Given the description of an element on the screen output the (x, y) to click on. 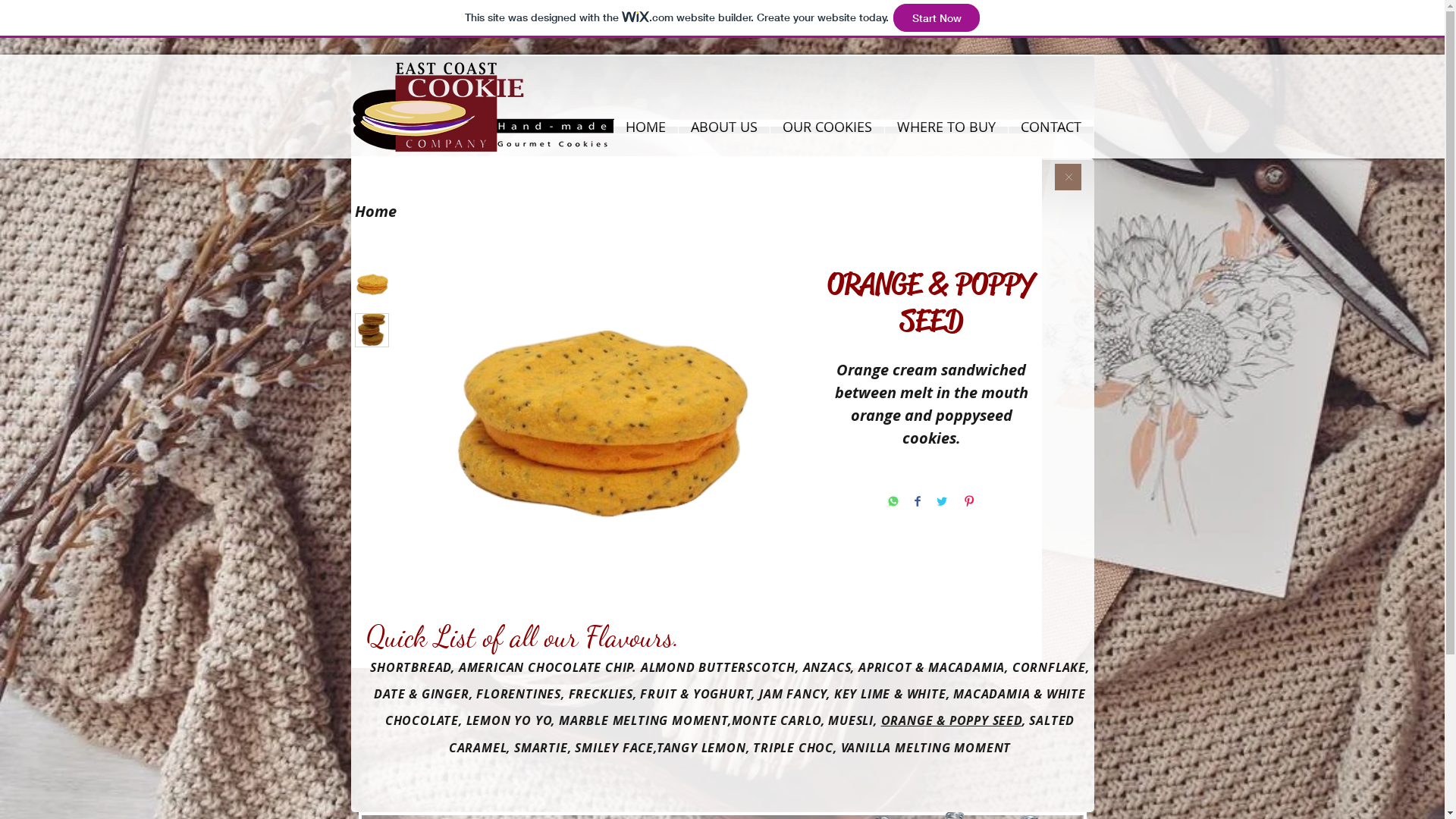
KEY LIME & WHITE Element type: text (890, 693)
AMERICAN CHOCOLATE CHIP Element type: text (545, 666)
FRECKLIES Element type: text (600, 693)
TANGY LEMON Element type: text (701, 747)
SMILEY FACE Element type: text (613, 747)
TRIPLE CHOC Element type: text (793, 747)
MACADAMIA & WHITE CHOCOLATE Element type: text (735, 706)
East Coast Cookie Company Element type: text (48, 12)
APRICOT & MACADAMIA Element type: text (931, 666)
FLORENTINES Element type: text (518, 693)
HOME Element type: text (644, 126)
ORANGE & POPPY SEED Element type: text (951, 720)
LEMON YO YO Element type: text (507, 720)
ANZACS Element type: text (827, 666)
WHERE TO BUY Element type: text (945, 126)
Home Element type: text (375, 210)
MUESLI Element type: text (850, 720)
CORNFLAKE Element type: text (1048, 666)
OUR COOKIES Element type: text (827, 126)
CONTACT Element type: text (1050, 126)
East Coast Cookie Company Element type: text (147, 12)
MONTE CARLO Element type: text (776, 720)
DATE & GINGER Element type: text (420, 693)
MARBLE MELTING MOMENT Element type: text (641, 720)
JAM FANCY Element type: text (792, 693)
SALTED CARAMEL Element type: text (761, 733)
SMARTIE Element type: text (540, 747)
SHORTBREAD Element type: text (410, 666)
VANILLA MELTING MOMENT Element type: text (925, 747)
FRUIT & YOGHURT Element type: text (695, 693)
ALMOND BUTTERSCOTCH Element type: text (717, 666)
ABOUT US Element type: text (722, 126)
